Given the description of an element on the screen output the (x, y) to click on. 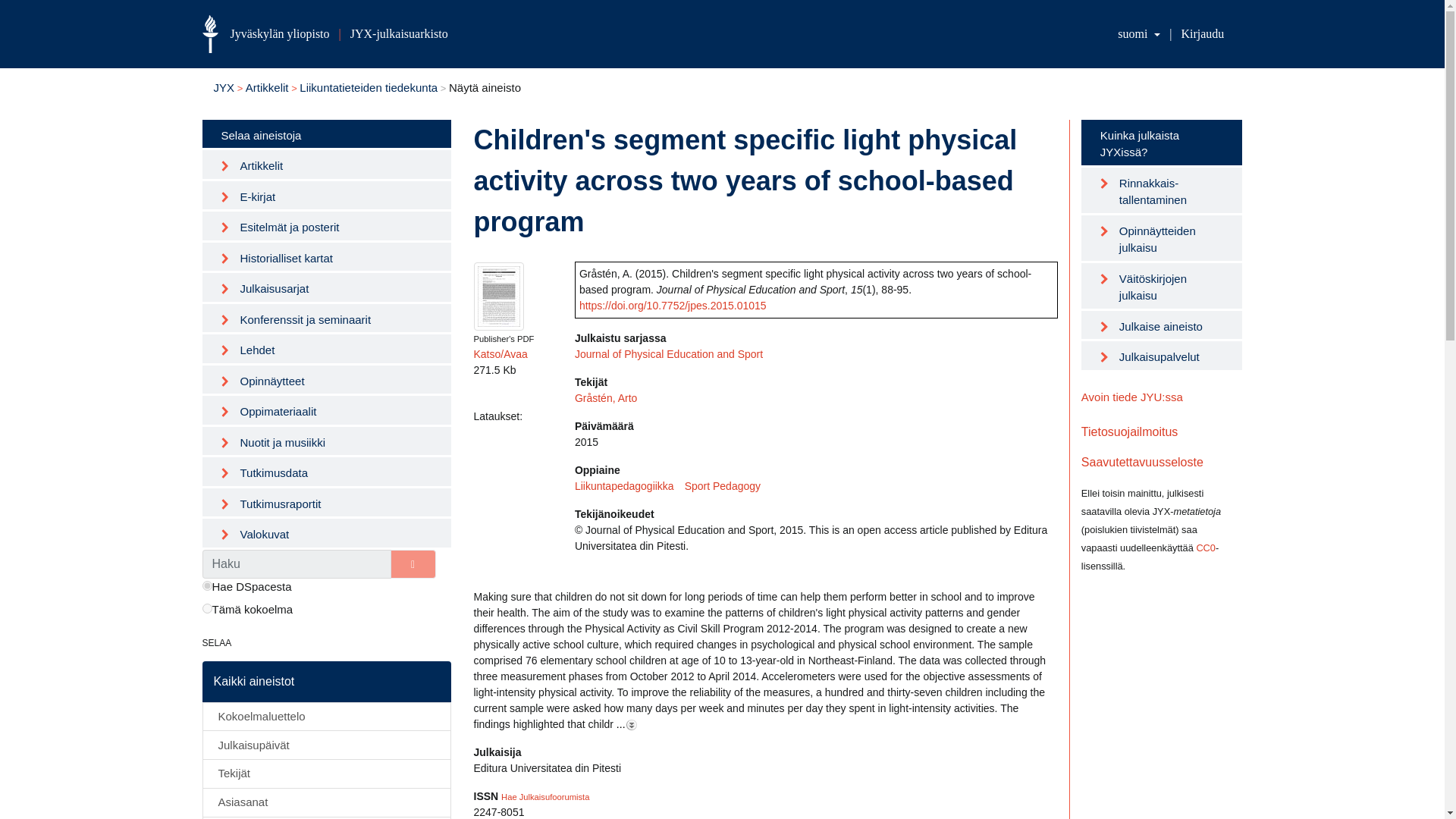
Liikuntapedagogiikka (629, 485)
showmore (631, 725)
Hae Julkaisufoorumista (544, 795)
Artikkelit (267, 87)
JYX (224, 87)
Kirjaudu (1202, 33)
... (624, 723)
Sport Pedagogy (727, 485)
Liikuntatieteiden tiedekunta (368, 87)
Journal of Physical Education and Sport (668, 353)
